Given the description of an element on the screen output the (x, y) to click on. 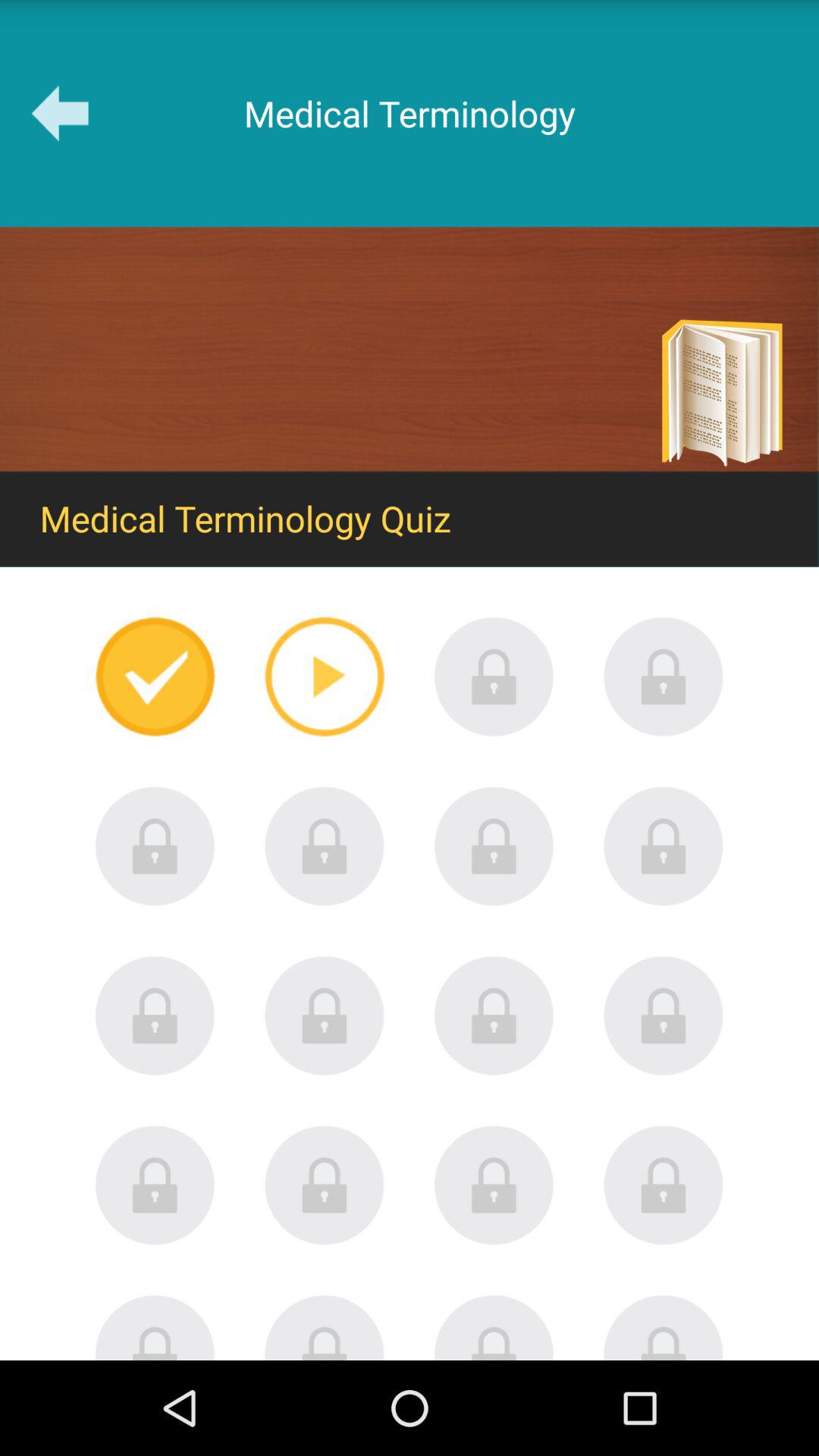
locked until other games completed (663, 1184)
